Given the description of an element on the screen output the (x, y) to click on. 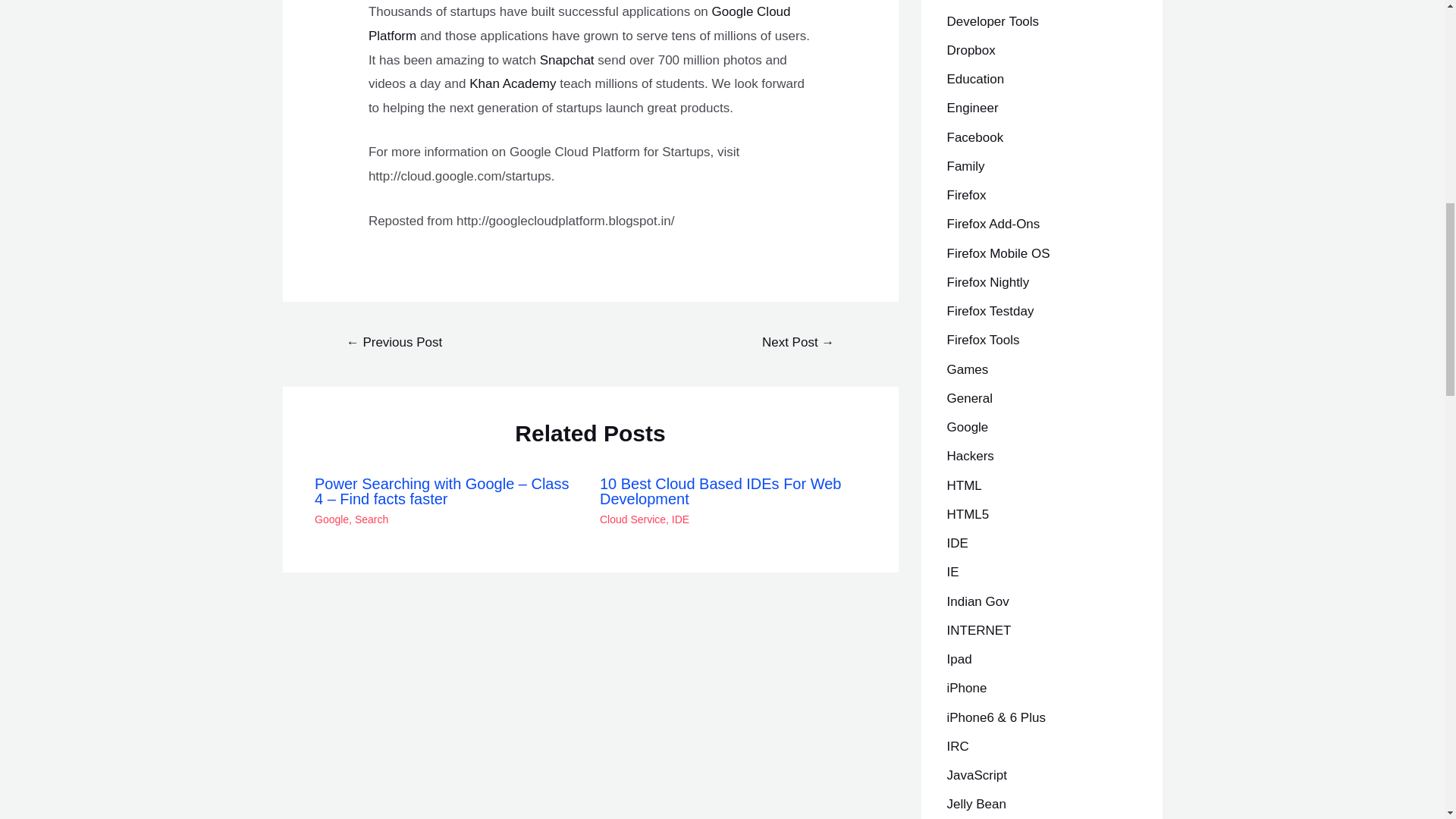
Snapchat (567, 60)
Google Cloud Platform (579, 23)
Cloud Service (632, 519)
Search (371, 519)
Google (331, 519)
Apple says iPhone 6 pre-orders set new overnight record (797, 344)
10 Best Cloud Based IDEs For Web Development (720, 490)
10 Best Cloud Based IDEs For Web Development (393, 344)
Khan Academy (512, 83)
IDE (679, 519)
